Given the description of an element on the screen output the (x, y) to click on. 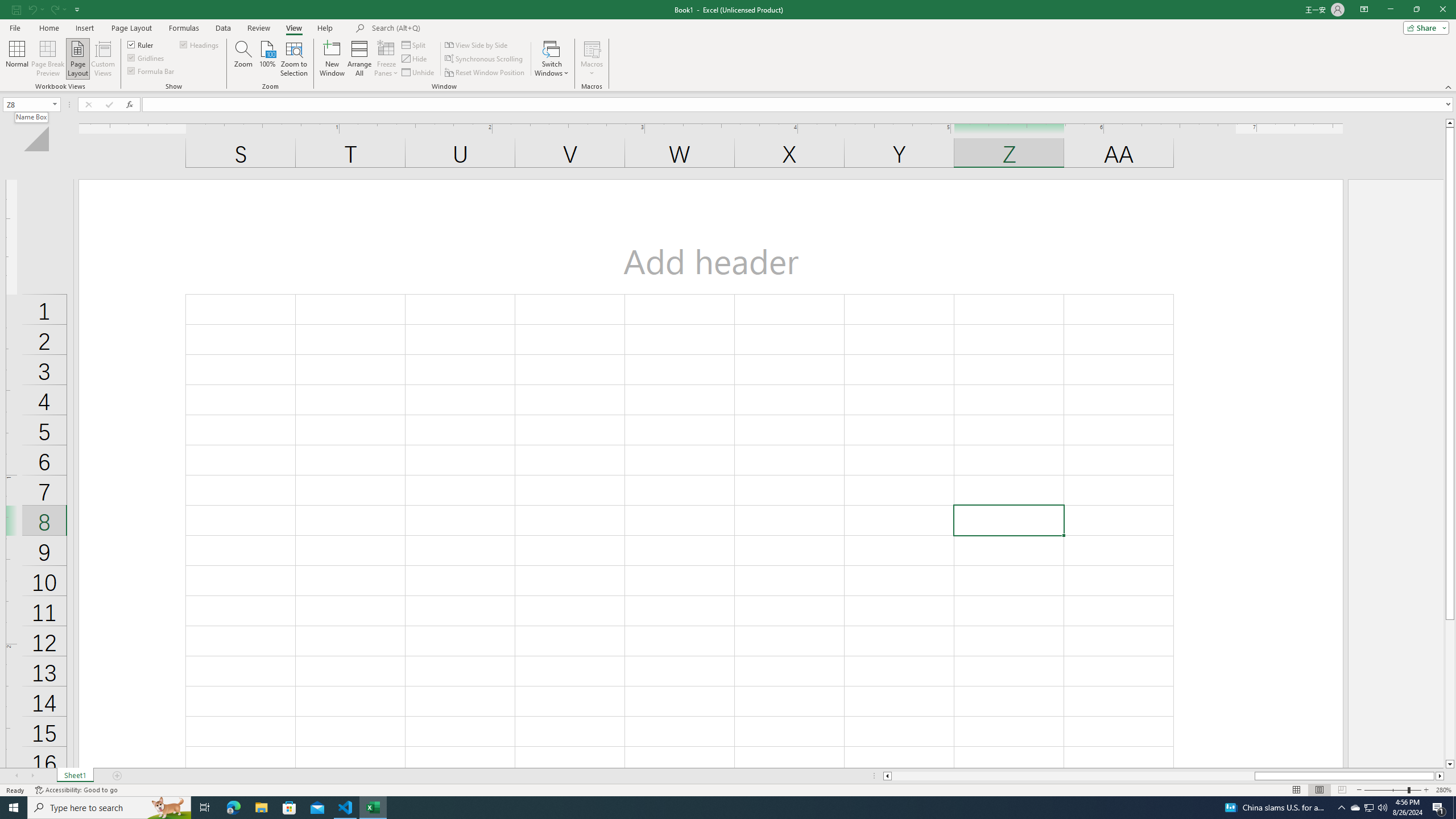
Freeze Panes (386, 58)
